Given the description of an element on the screen output the (x, y) to click on. 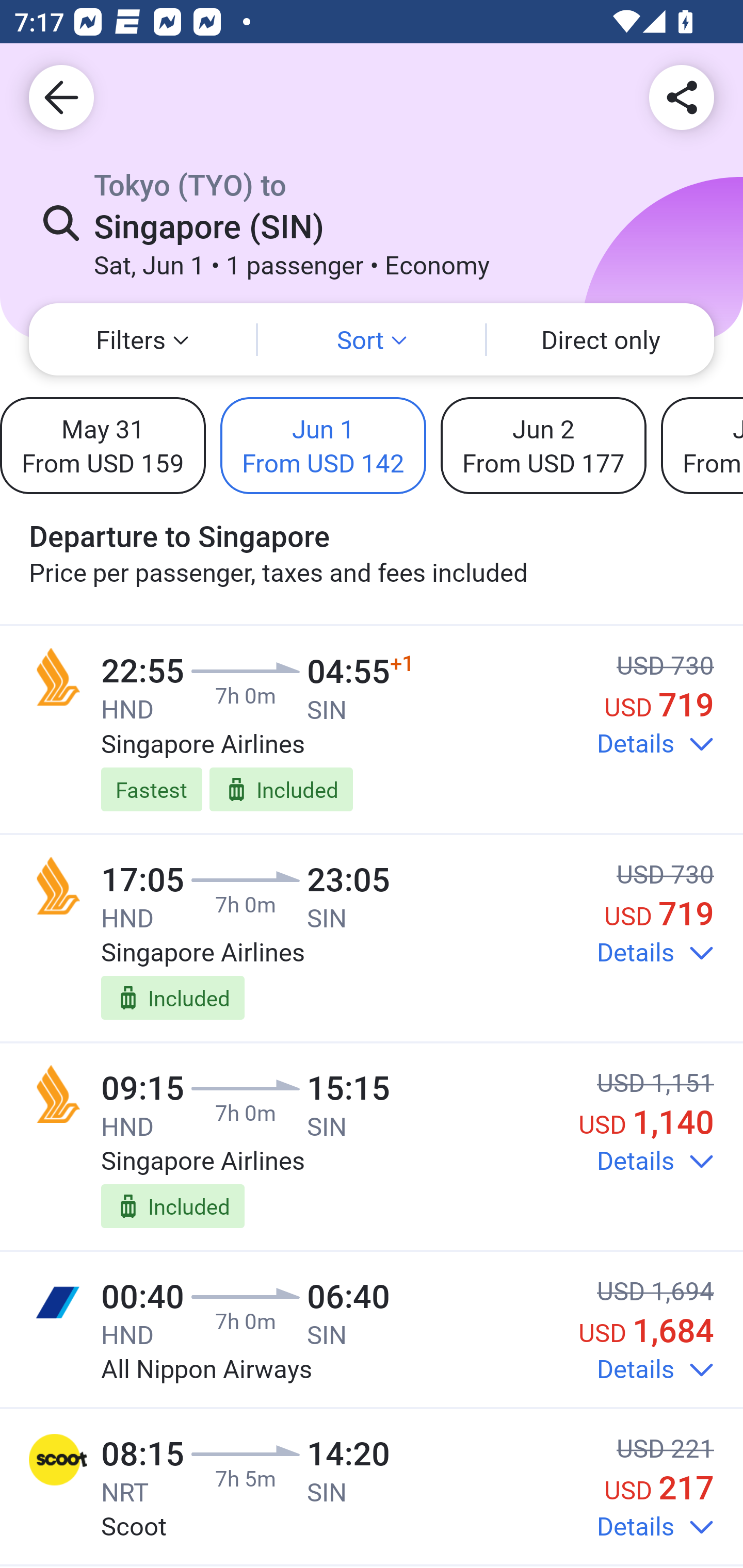
Filters (141, 339)
Sort (371, 339)
Direct only (600, 339)
May 31 From USD 159 (102, 444)
Jun 1 From USD 142 (323, 444)
Jun 2 From USD 177 (543, 444)
